Given the description of an element on the screen output the (x, y) to click on. 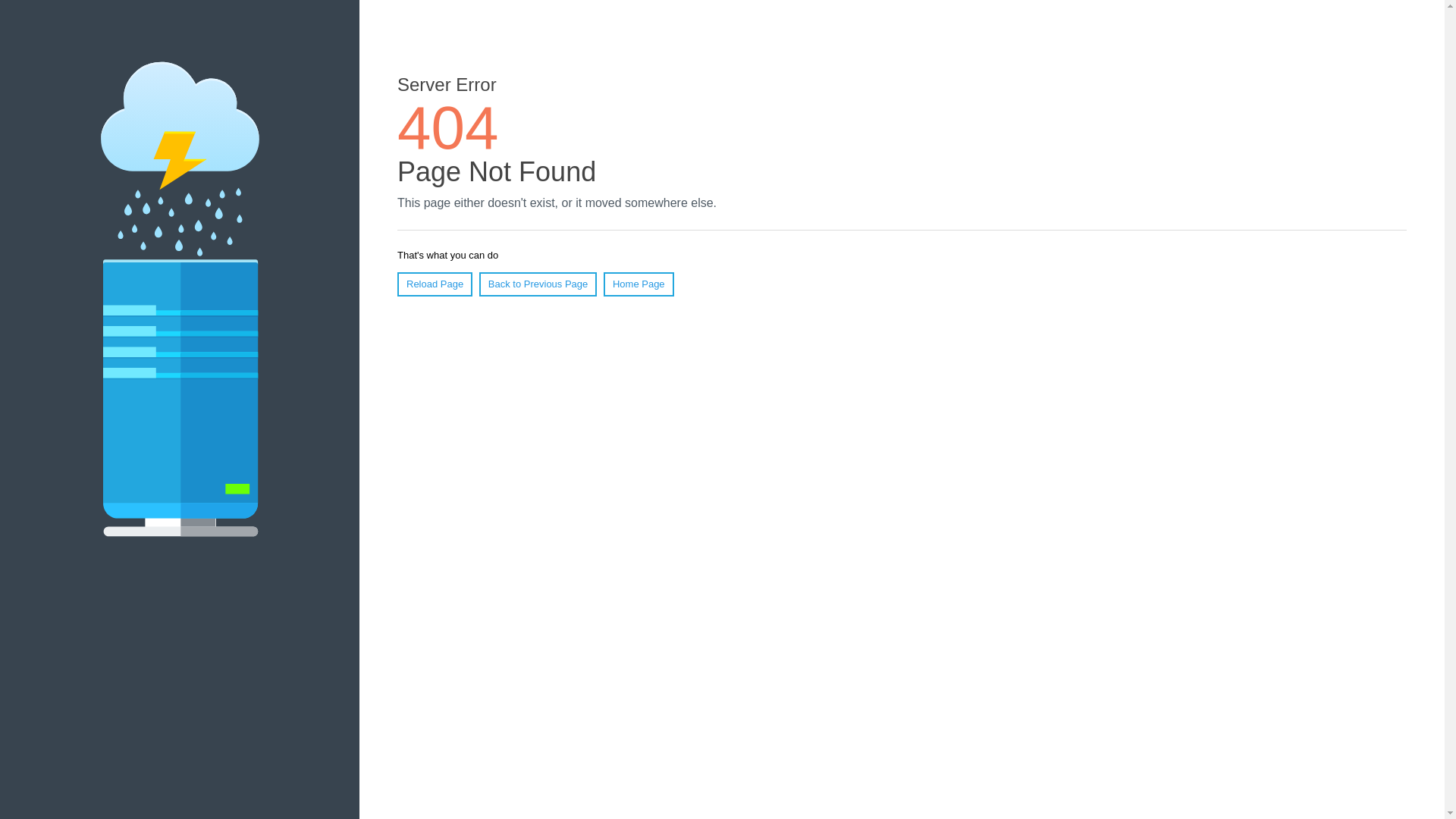
Reload Page Element type: text (434, 284)
Home Page Element type: text (638, 284)
Back to Previous Page Element type: text (538, 284)
